Given the description of an element on the screen output the (x, y) to click on. 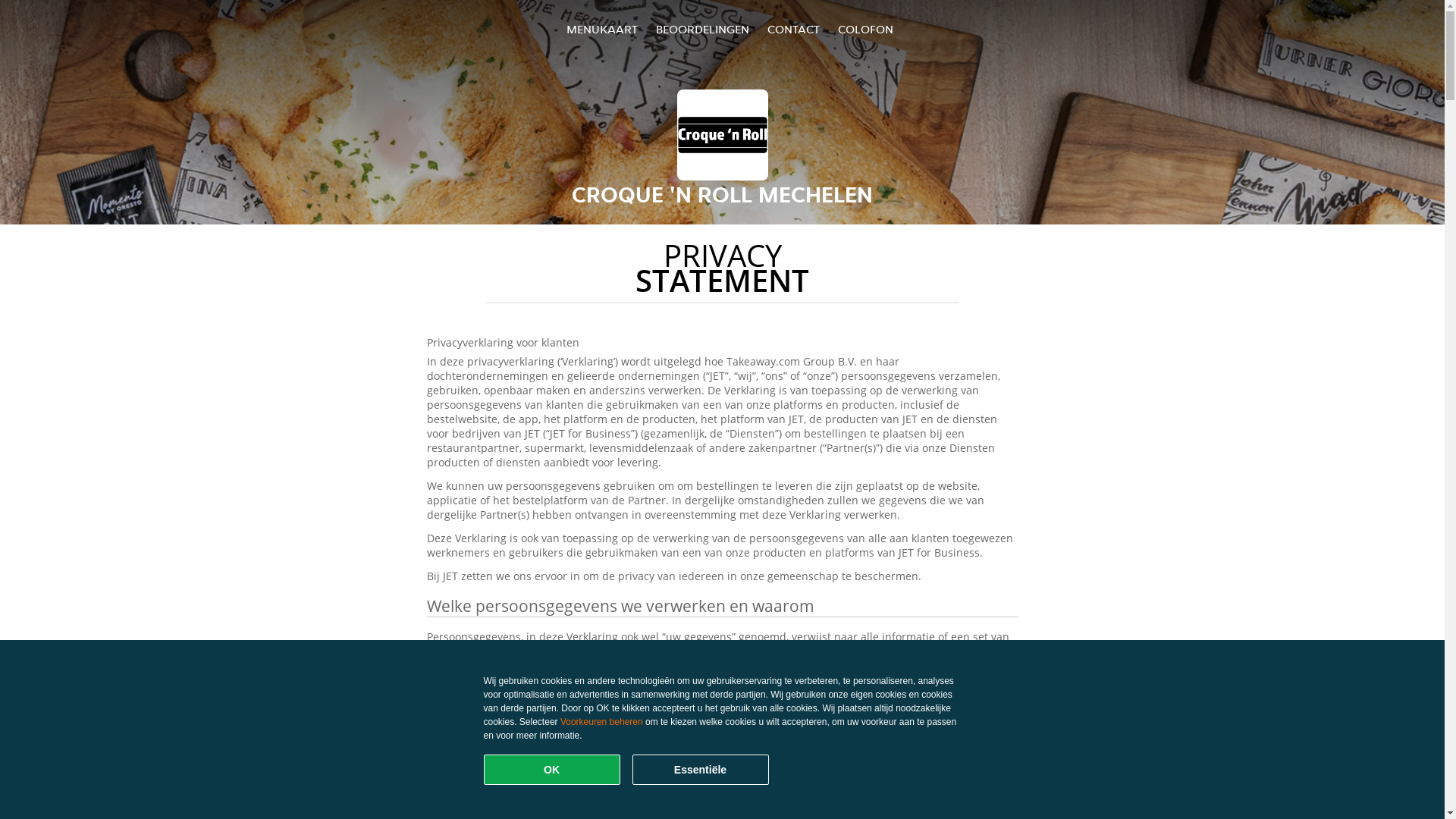
MENUKAART Element type: text (601, 29)
Voorkeuren beheren Element type: text (601, 721)
COLOFON Element type: text (865, 29)
CONTACT Element type: text (793, 29)
BEOORDELINGEN Element type: text (702, 29)
OK Element type: text (551, 769)
